Given the description of an element on the screen output the (x, y) to click on. 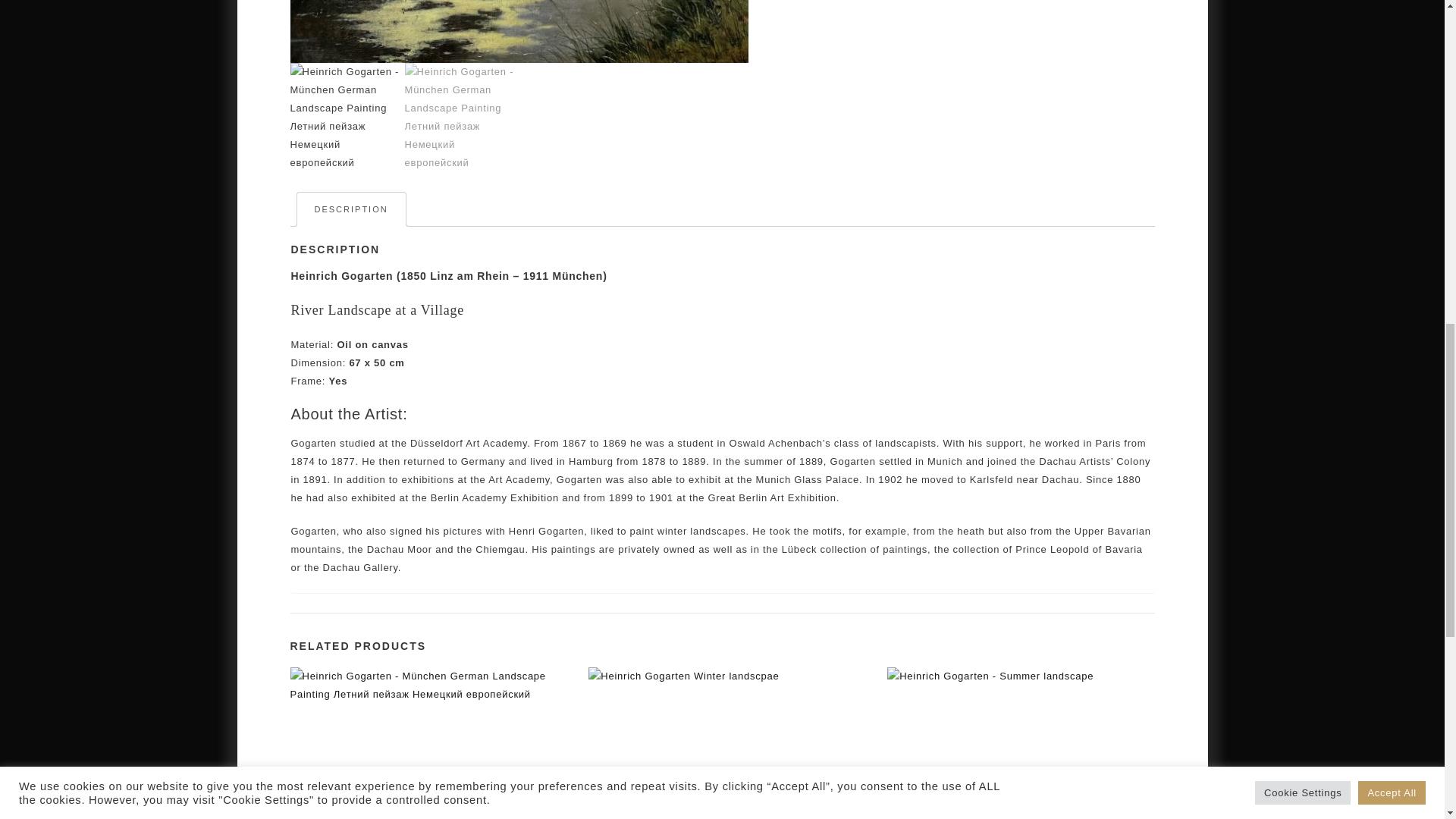
DESCRIPTION (349, 209)
